Given the description of an element on the screen output the (x, y) to click on. 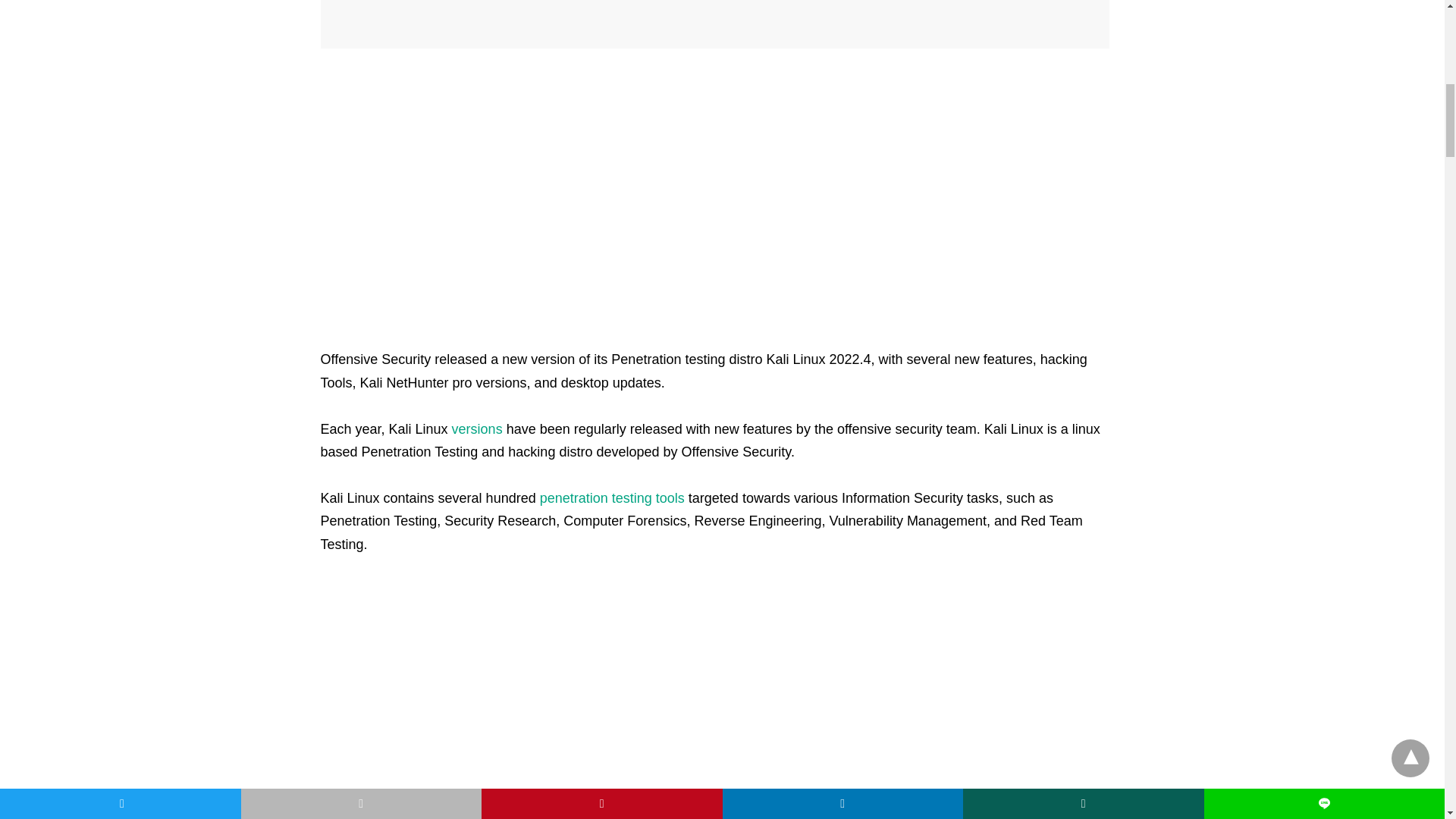
versions  (478, 428)
penetration testing tools (612, 498)
